Given the description of an element on the screen output the (x, y) to click on. 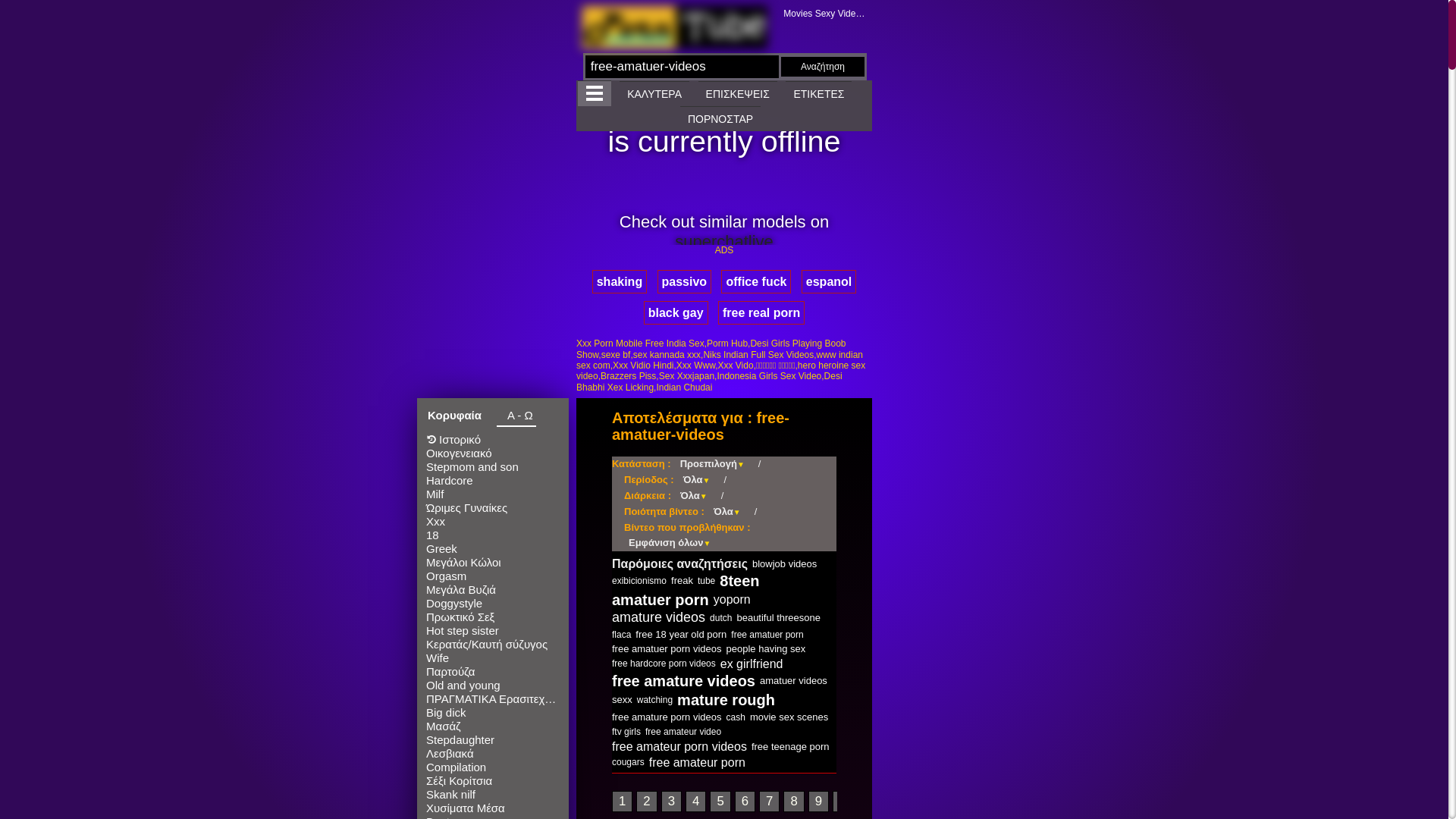
exibicionismo Element type: text (638, 580)
black gay Element type: text (675, 312)
beautiful threesone Element type: text (778, 617)
1 Element type: text (621, 801)
3 Element type: text (671, 801)
Hot step sister Element type: text (492, 630)
free amature videos Element type: text (683, 680)
watching Element type: text (654, 699)
8 Element type: text (793, 801)
Orgasm Element type: text (492, 576)
Old and young Element type: text (492, 685)
blowjob videos Element type: text (784, 563)
free amateur video Element type: text (683, 731)
Xxx Element type: text (492, 521)
2 Element type: text (646, 801)
free 18 year old porn Element type: text (680, 634)
free amateur porn Element type: text (697, 762)
people having sex Element type: text (766, 648)
7 Element type: text (769, 801)
8teen Element type: text (739, 580)
dutch Element type: text (720, 617)
amatuer porn Element type: text (660, 599)
Stepdaughter Element type: text (492, 739)
amature videos Element type: text (658, 616)
free amateur porn videos Element type: text (678, 746)
Doggystyle Element type: text (492, 603)
flaca Element type: text (620, 634)
9 Element type: text (818, 801)
espanol Element type: text (828, 281)
free hardcore porn videos Element type: text (663, 663)
Greek Element type: text (492, 548)
Stepmom and son Element type: text (492, 466)
tube Element type: text (706, 580)
shaking Element type: text (619, 281)
Hardcore Element type: text (492, 480)
office fuck Element type: text (755, 281)
sexx Element type: text (621, 699)
4 Element type: text (695, 801)
freak Element type: text (682, 580)
free real porn Element type: text (761, 312)
cash Element type: text (735, 717)
18 Element type: text (492, 535)
free amature porn videos Element type: text (666, 716)
10 Element type: text (846, 801)
6 Element type: text (744, 801)
mature rough Element type: text (726, 699)
free amatuer porn Element type: text (767, 634)
5 Element type: text (719, 801)
passivo Element type: text (684, 281)
amatuer videos Element type: text (793, 680)
yoporn Element type: text (731, 599)
free amatuer porn videos Element type: text (666, 648)
Compilation Element type: text (492, 767)
ftv girls Element type: text (625, 731)
ex girlfriend Element type: text (751, 663)
Wife Element type: text (492, 658)
cougars Element type: text (627, 761)
movie sex scenes Element type: text (788, 716)
Milf Element type: text (492, 494)
Skank nilf Element type: text (492, 794)
Big dick Element type: text (492, 712)
free teenage porn Element type: text (790, 746)
